Given the description of an element on the screen output the (x, y) to click on. 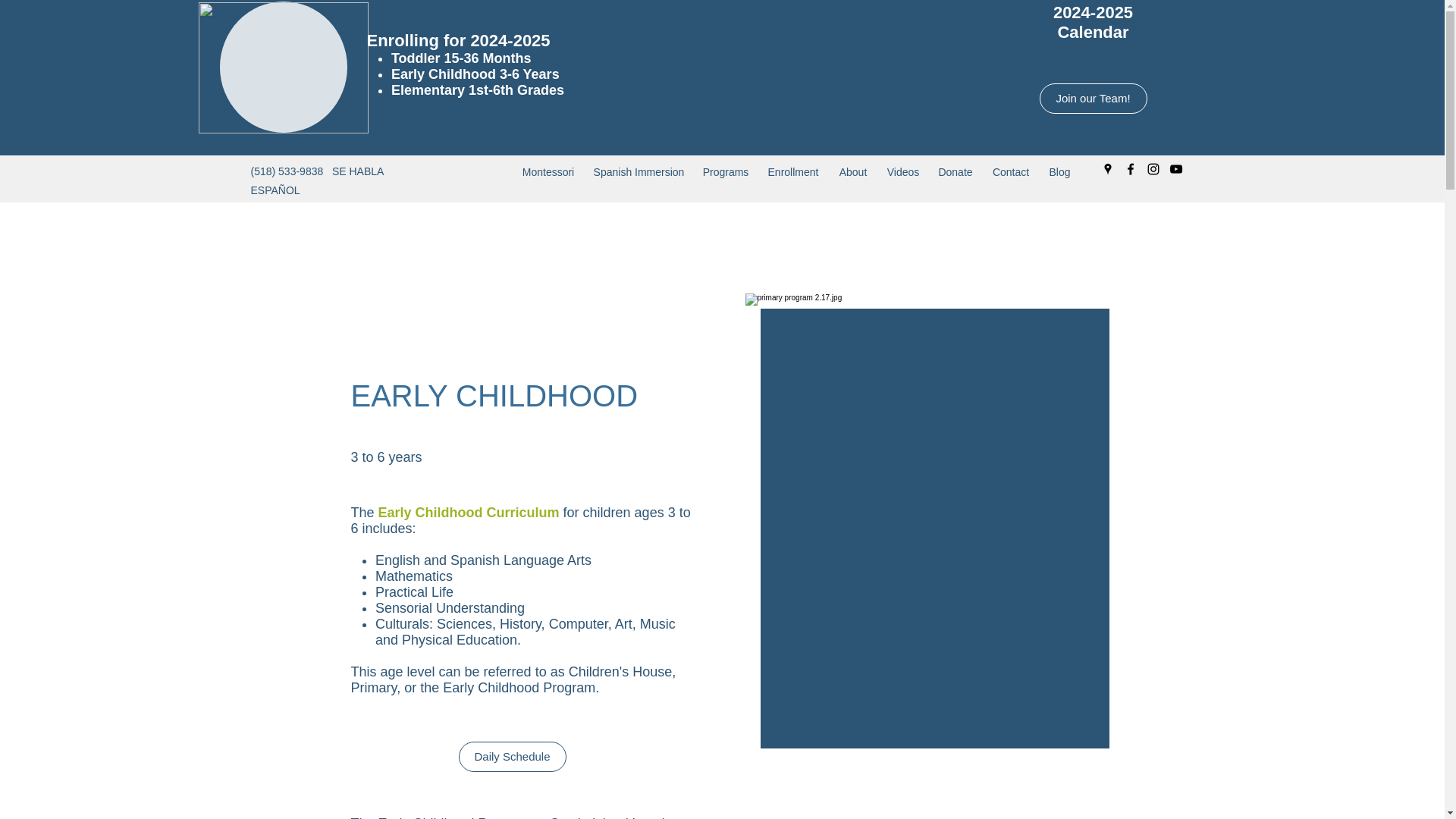
Donate (954, 171)
Contact (1010, 171)
Blog (1059, 171)
Videos (902, 171)
Daily Schedule (512, 757)
Enrollment (793, 171)
Spanish Immersion (638, 171)
Join our Team! (1093, 98)
Early Childhood Curriculum (468, 512)
2024-2025 Calendar (1092, 22)
